Given the description of an element on the screen output the (x, y) to click on. 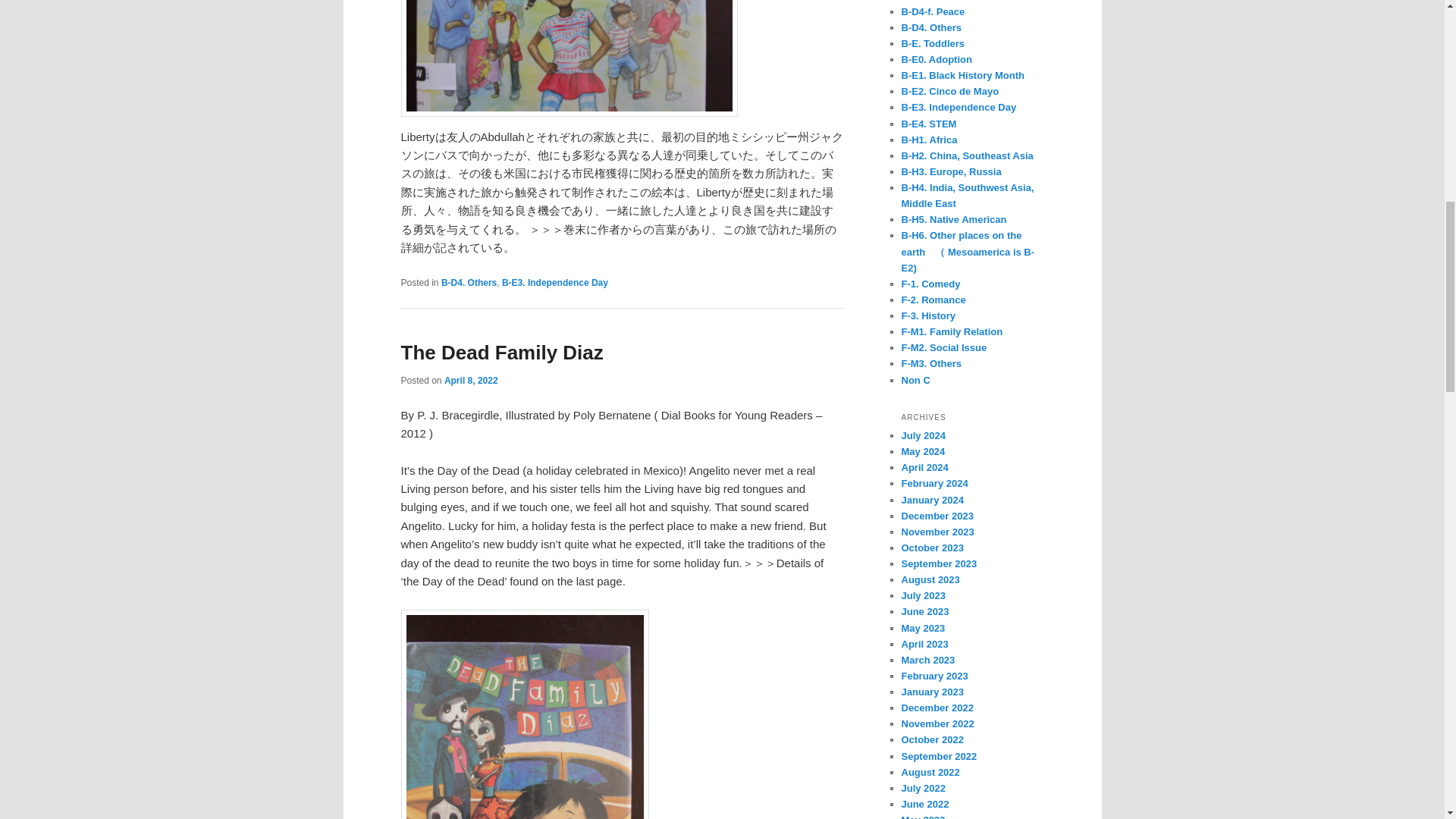
B-E3. Independence Day (555, 282)
5:56 pm (470, 380)
B-D4. Others (468, 282)
April 8, 2022 (470, 380)
The Dead Family Diaz (501, 352)
